Given the description of an element on the screen output the (x, y) to click on. 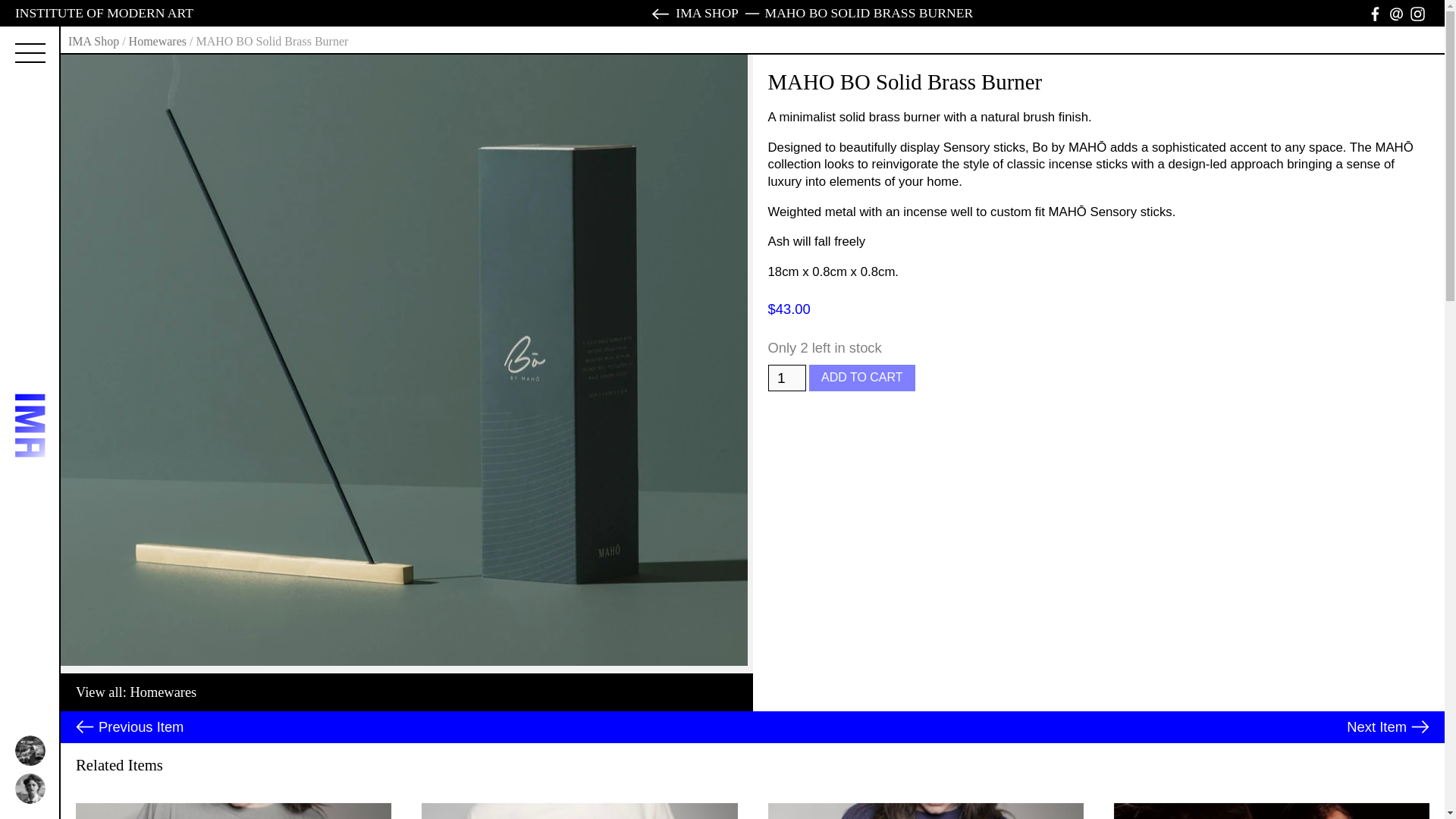
Homewares (157, 41)
IMA Shop (93, 41)
IMA SHOP (693, 12)
Next Item (1387, 726)
1 (786, 377)
INSTITUTE OF MODERN ART (103, 12)
ADD TO CART (862, 378)
Previous Item (129, 726)
Homewares (162, 692)
